Given the description of an element on the screen output the (x, y) to click on. 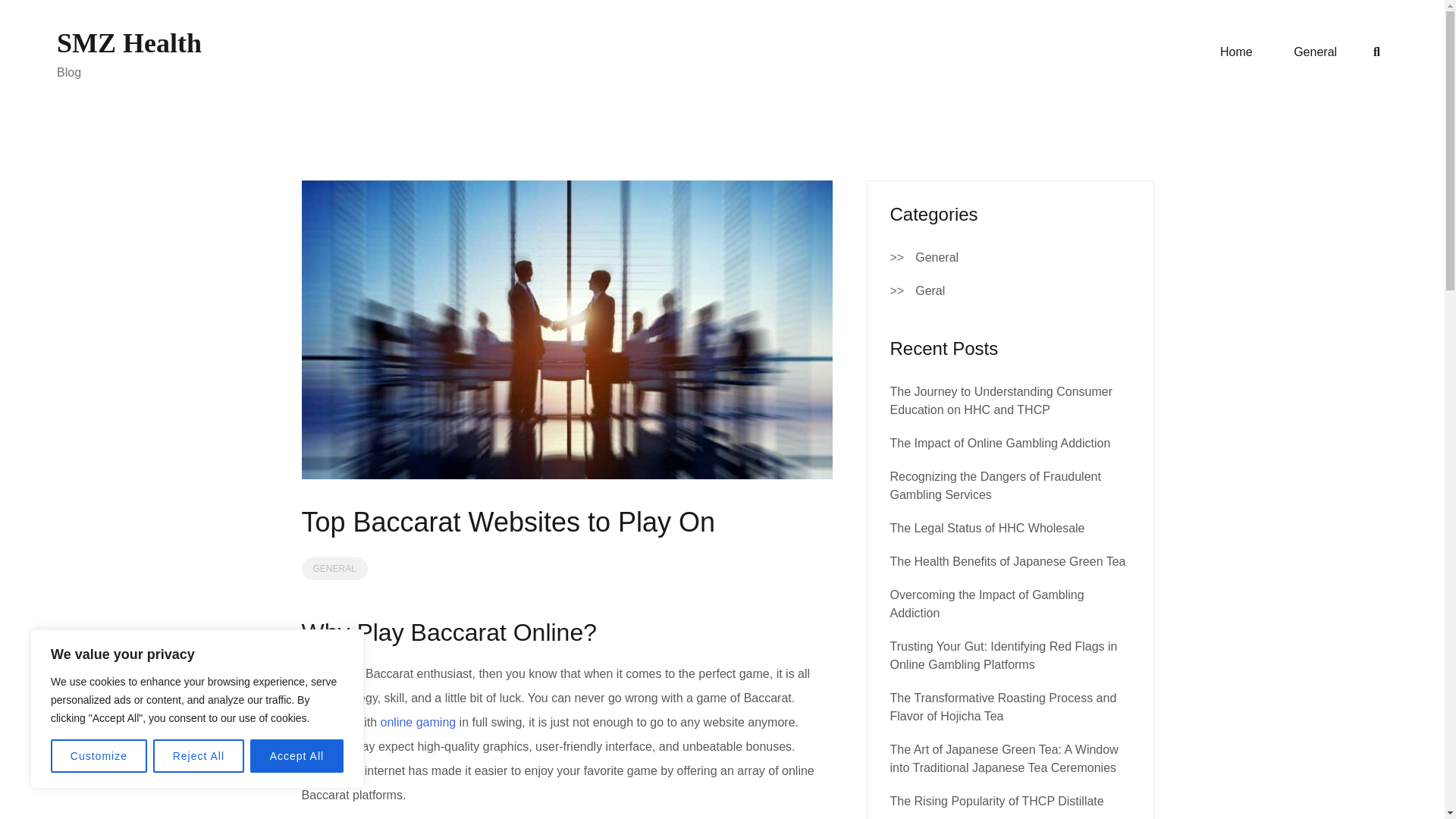
The Legal Status of HHC Wholesale (986, 527)
Home (1236, 52)
General (1315, 52)
Reject All (198, 756)
GENERAL (334, 568)
Geral (929, 290)
Recognizing the Dangers of Fraudulent Gambling Services (994, 485)
Overcoming the Impact of Gambling Addiction (986, 603)
Accept All (296, 756)
